Given the description of an element on the screen output the (x, y) to click on. 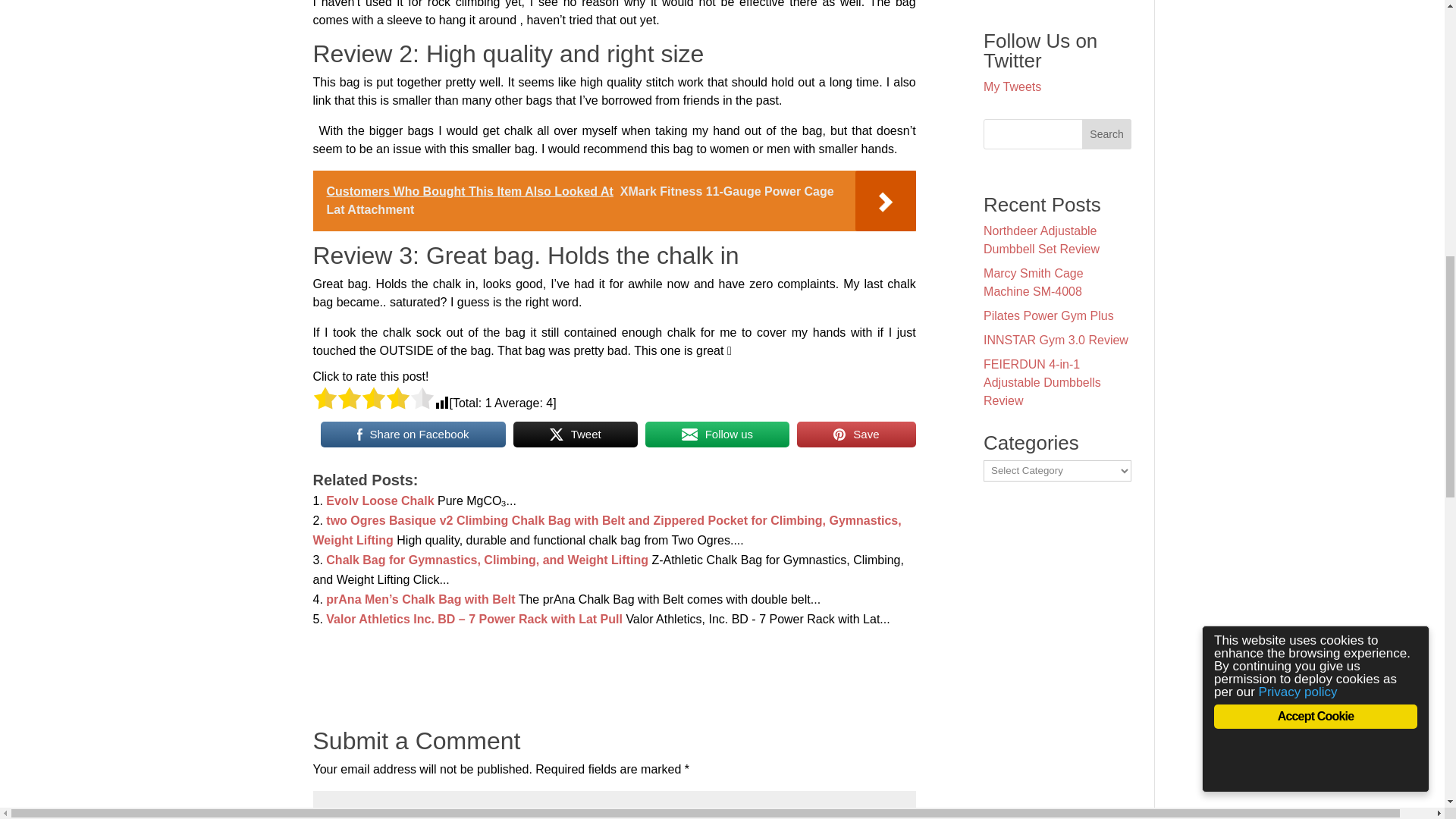
Chalk Bag for Gymnastics, Climbing, and Weight Lifting (486, 559)
Search (1106, 132)
Evolv Loose Chalk (379, 500)
